Given the description of an element on the screen output the (x, y) to click on. 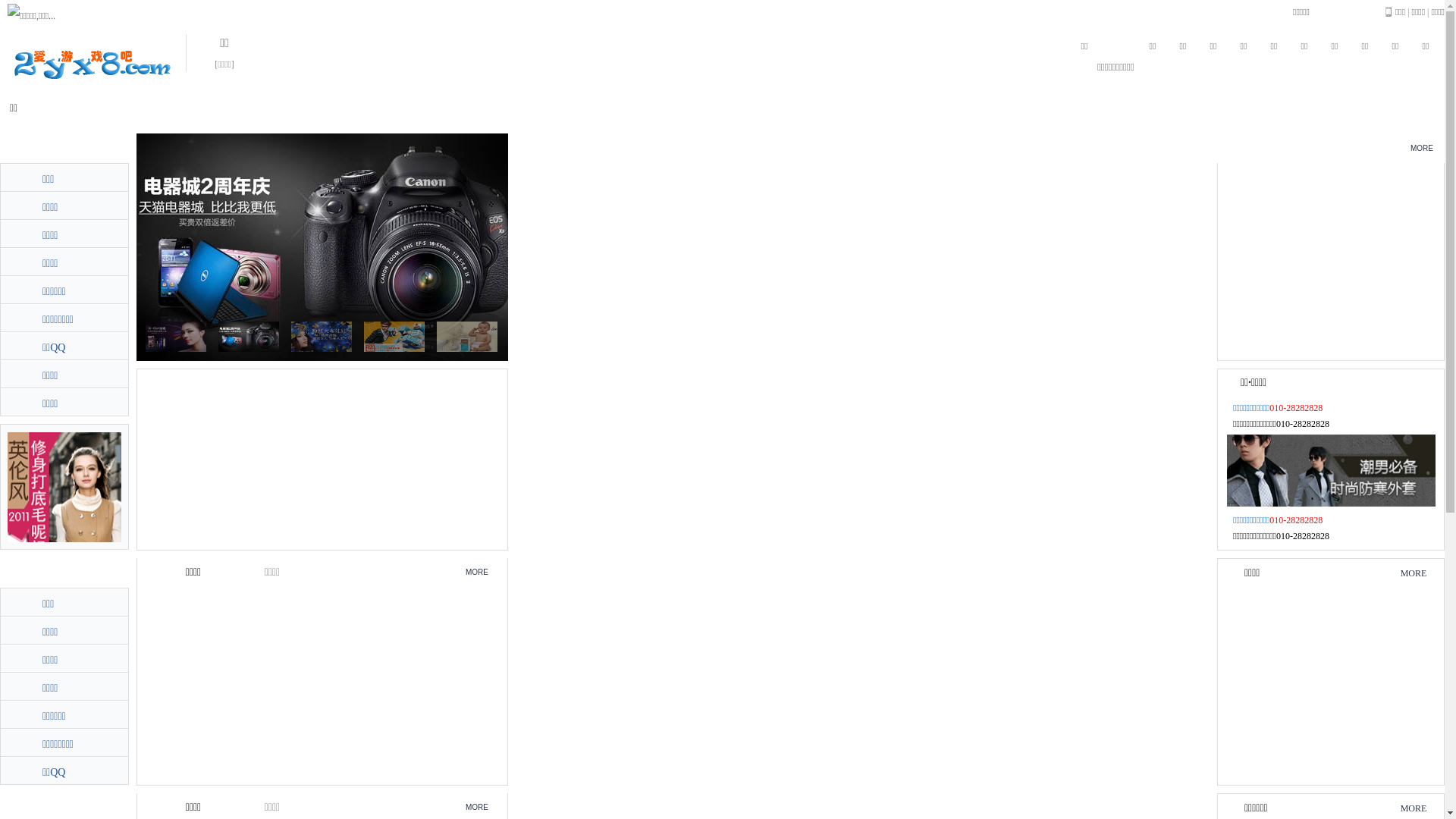
MORE Element type: text (1421, 148)
MORE Element type: text (1413, 808)
MORE Element type: text (476, 571)
MORE Element type: text (1413, 572)
MORE Element type: text (476, 807)
